Given the description of an element on the screen output the (x, y) to click on. 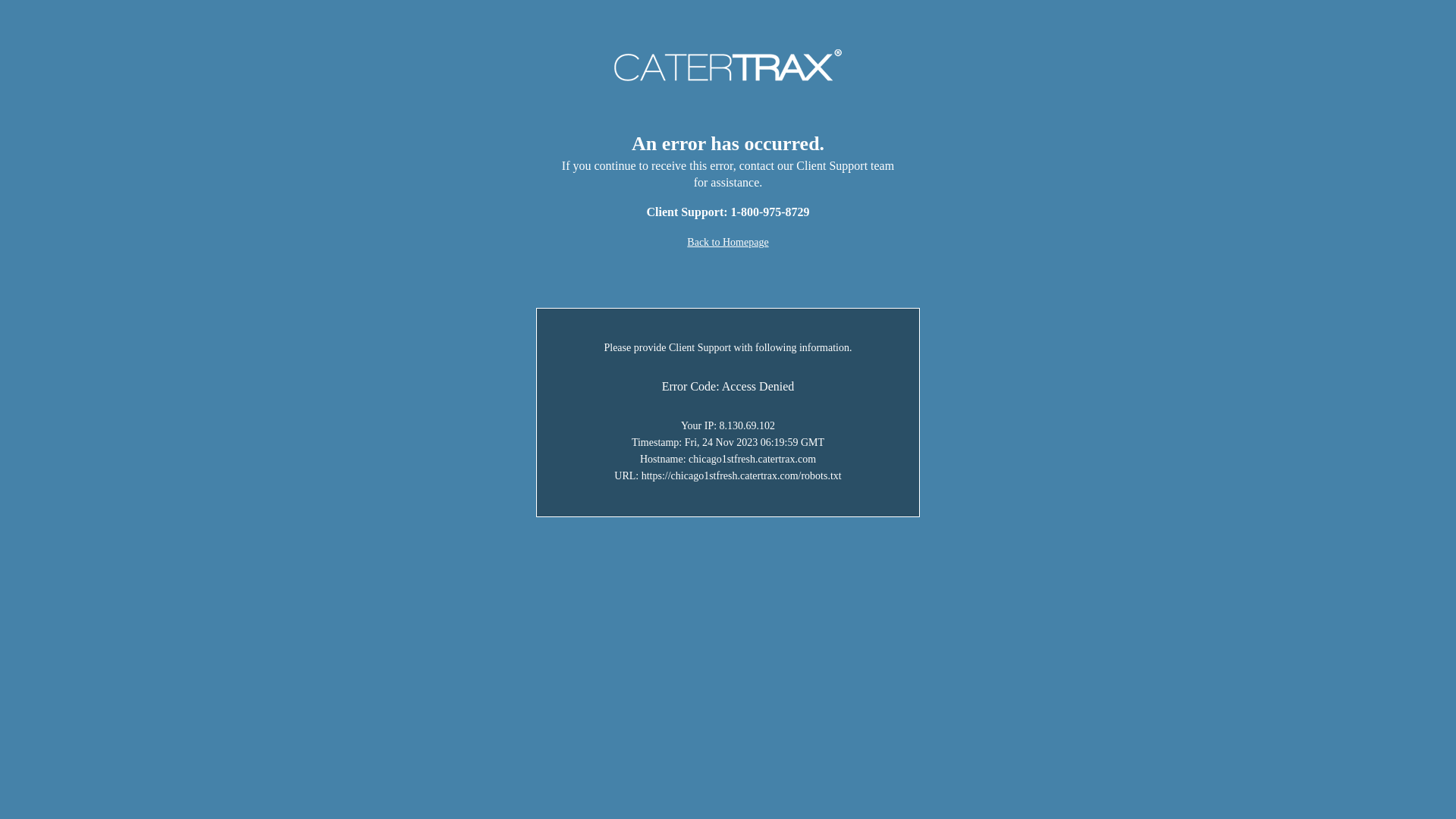
Back to Homepage Element type: text (727, 241)
